Given the description of an element on the screen output the (x, y) to click on. 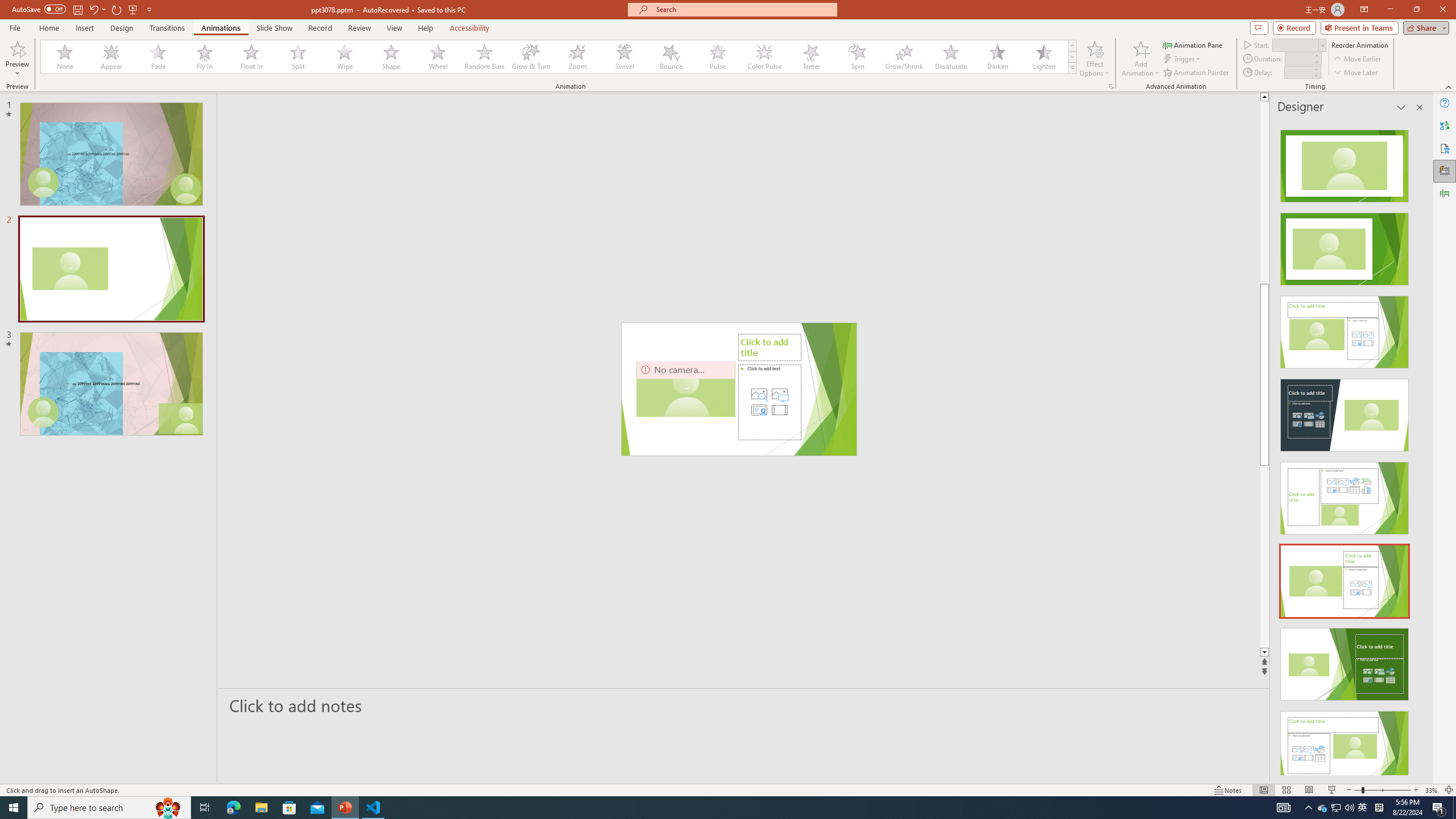
Pulse (717, 56)
Swivel (624, 56)
Save (77, 9)
Slide Sorter (1286, 790)
Recommended Design: Design Idea (1344, 162)
Lighten (1043, 56)
Notes  (1227, 790)
Close pane (1419, 107)
Class: NetUIImage (1072, 68)
Color Pulse (764, 56)
View (395, 28)
Class: MsoCommandBar (728, 789)
Minimize (1390, 9)
Zoom to Fit  (1449, 790)
Page down (1302, 556)
